Given the description of an element on the screen output the (x, y) to click on. 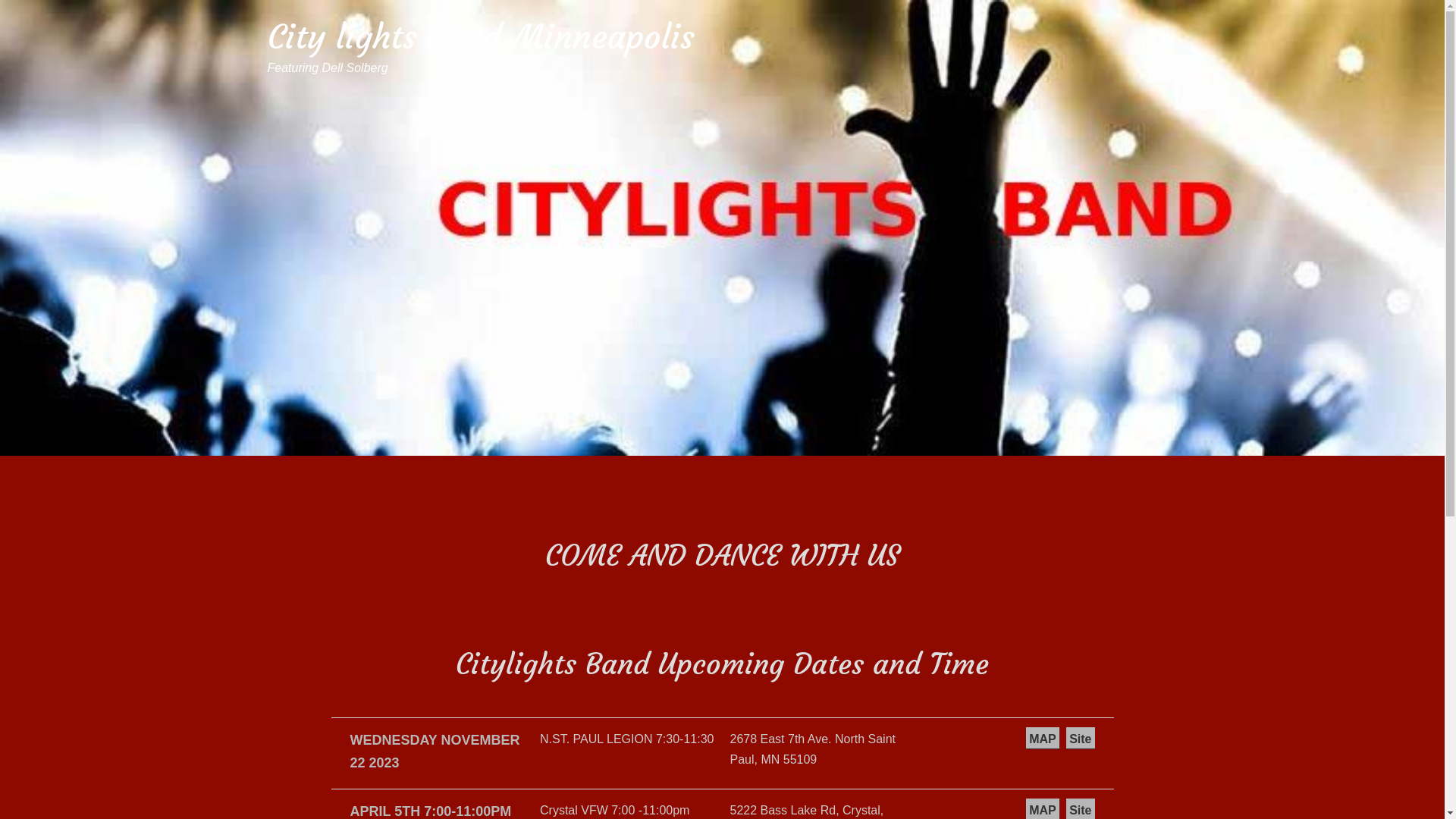
City lights Band Minneapolis Element type: text (479, 36)
MAP Element type: text (1042, 737)
Site Element type: text (1080, 737)
